Given the description of an element on the screen output the (x, y) to click on. 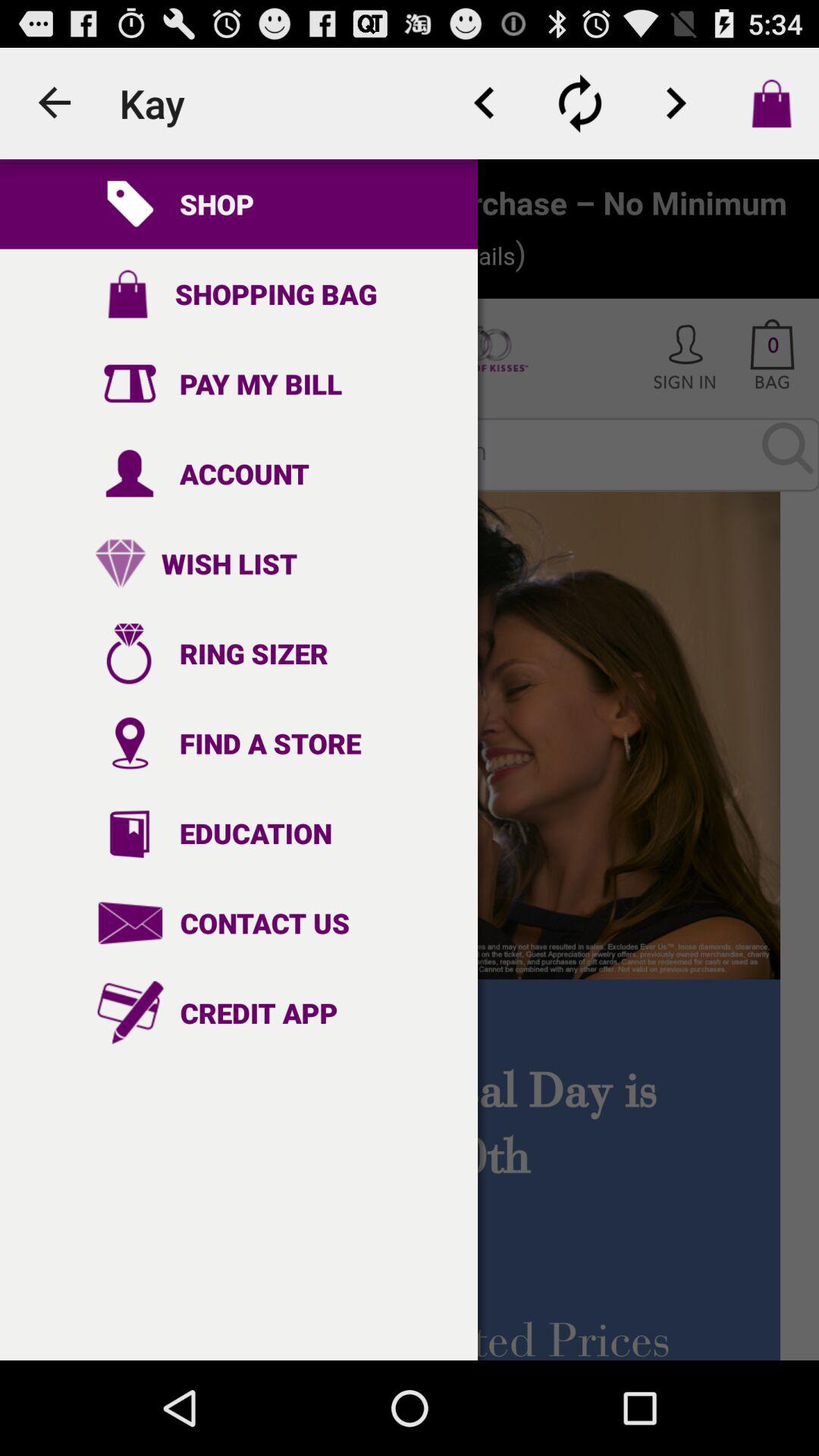
go back (484, 103)
